Given the description of an element on the screen output the (x, y) to click on. 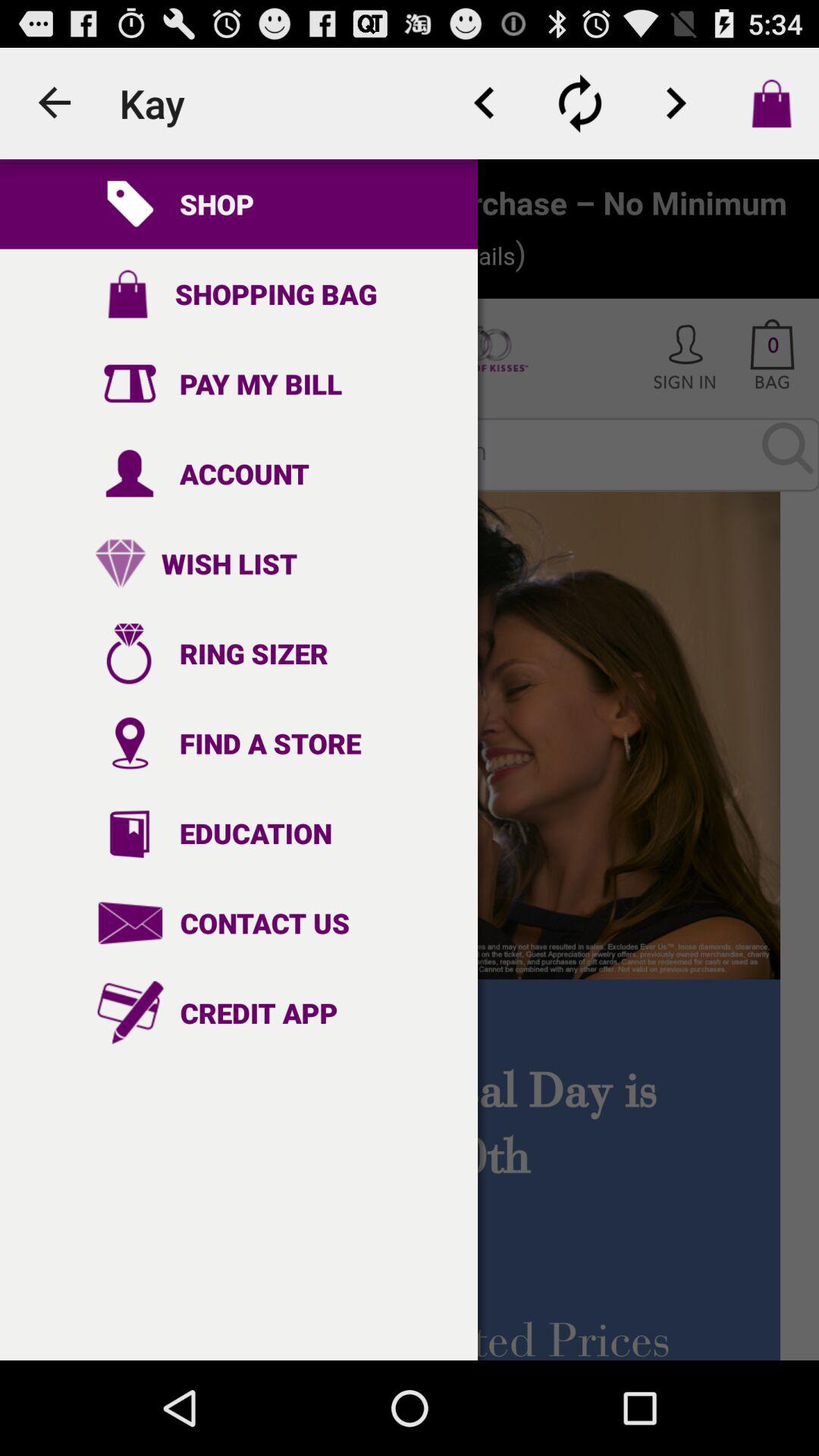
go back (484, 103)
